Given the description of an element on the screen output the (x, y) to click on. 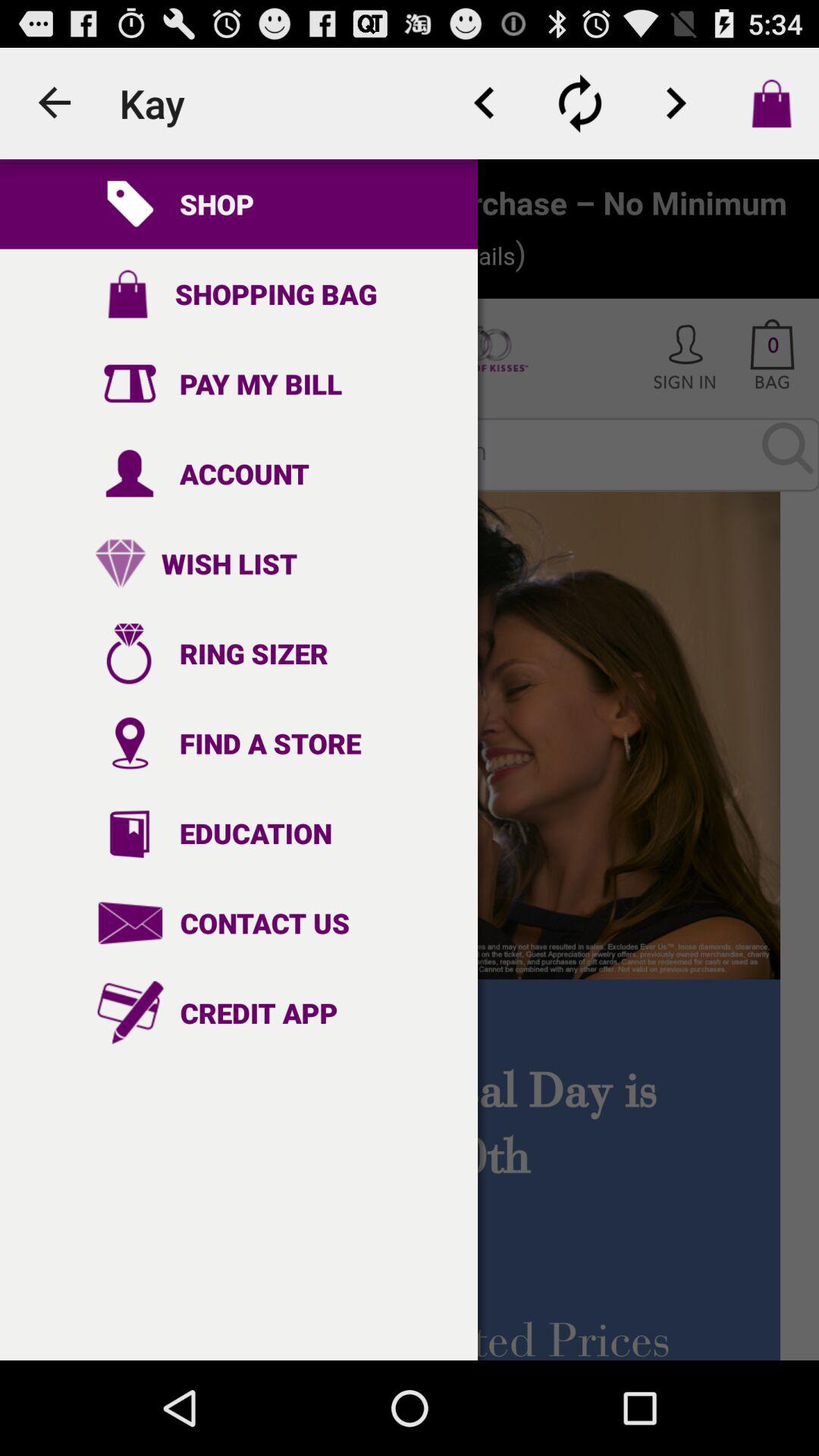
go back (484, 103)
